Given the description of an element on the screen output the (x, y) to click on. 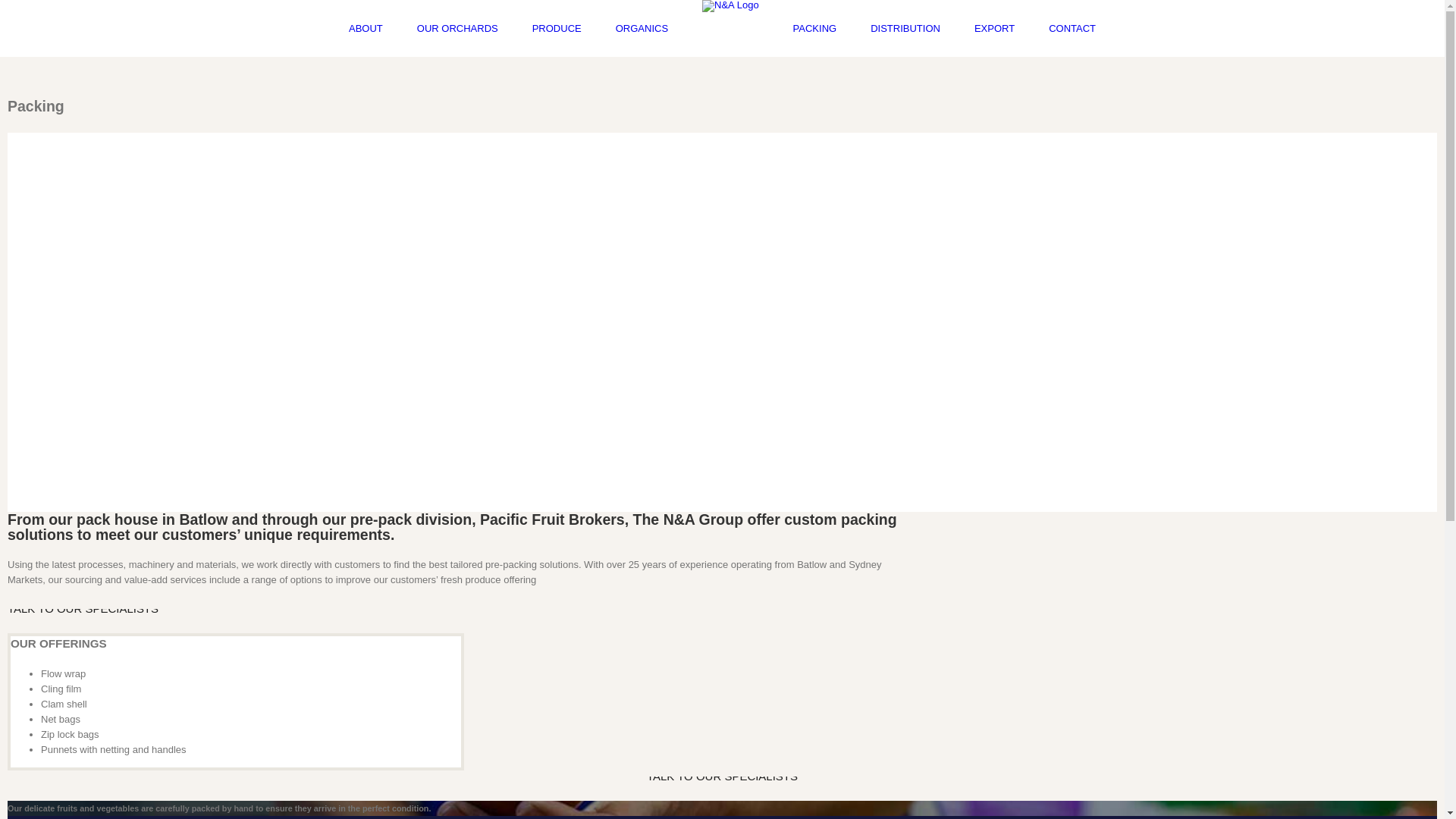
OUR ORCHARDS Element type: text (457, 28)
EXPORT Element type: text (994, 28)
ABOUT Element type: text (365, 28)
TALK TO OUR SPECIALISTS Element type: text (82, 610)
CONTACT Element type: text (1071, 28)
ORGANICS Element type: text (641, 28)
PRODUCE Element type: text (556, 28)
PACKING Element type: text (815, 28)
TALK TO OUR SPECIALISTS Element type: text (721, 778)
DISTRIBUTION Element type: text (905, 28)
